Given the description of an element on the screen output the (x, y) to click on. 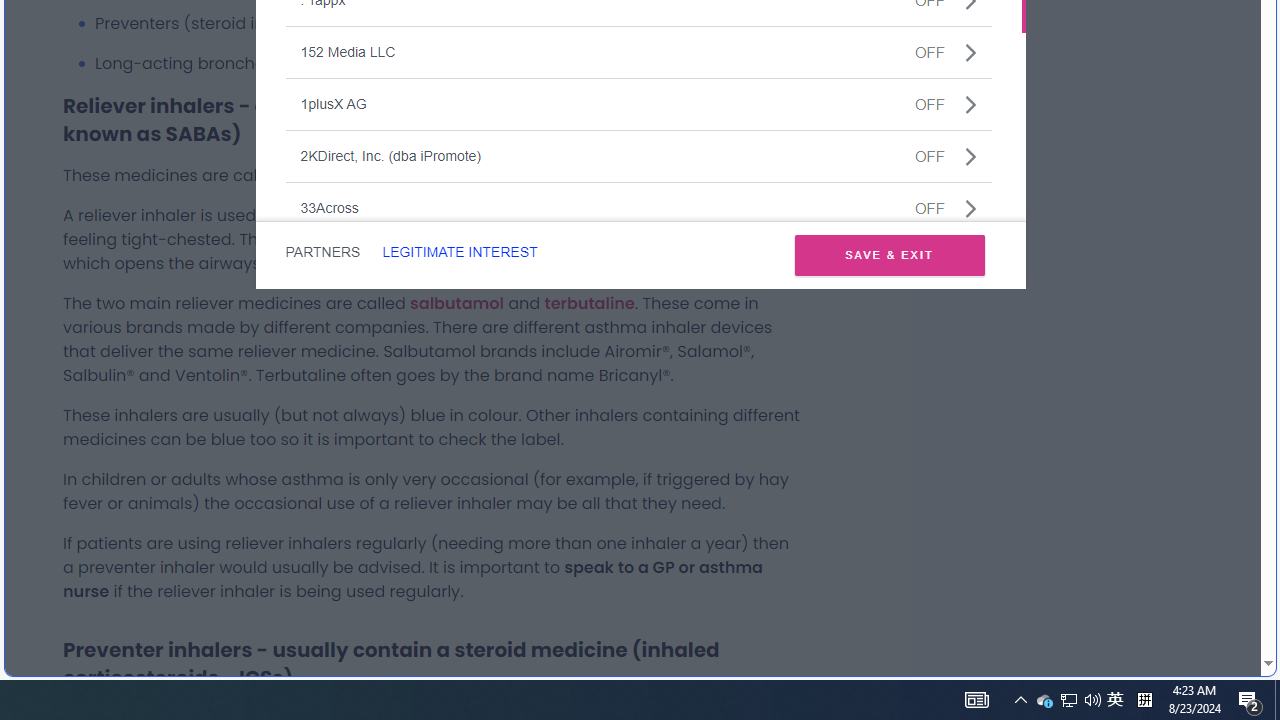
salbutamol (456, 302)
PARTNERS (322, 251)
Long-acting bronchodilators. (448, 63)
2KDirect, Inc. (dba iPromote)OFF (638, 155)
Class: css-jswnc6 (969, 208)
33AcrossOFF (638, 208)
SAVE & EXIT (889, 254)
LEGITIMATE INTEREST (459, 251)
1plusX AGOFF (638, 103)
152 Media LLCOFF (638, 52)
terbutaline (589, 302)
Preventers (steroid inhalers). (448, 23)
